Given the description of an element on the screen output the (x, y) to click on. 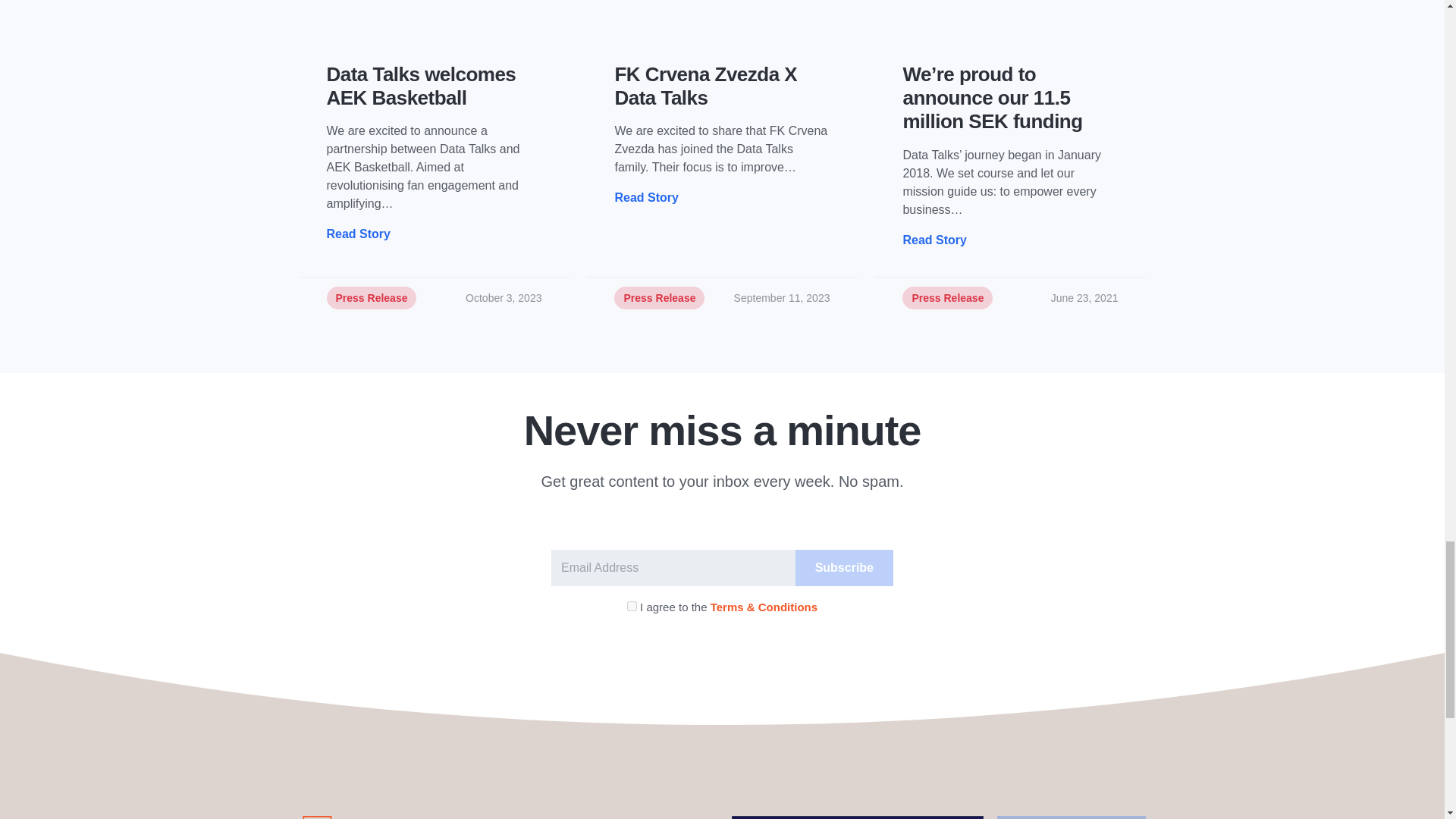
Data Talks welcomes AEK Basketball (433, 86)
1 (632, 605)
Subscribe (843, 567)
